Given the description of an element on the screen output the (x, y) to click on. 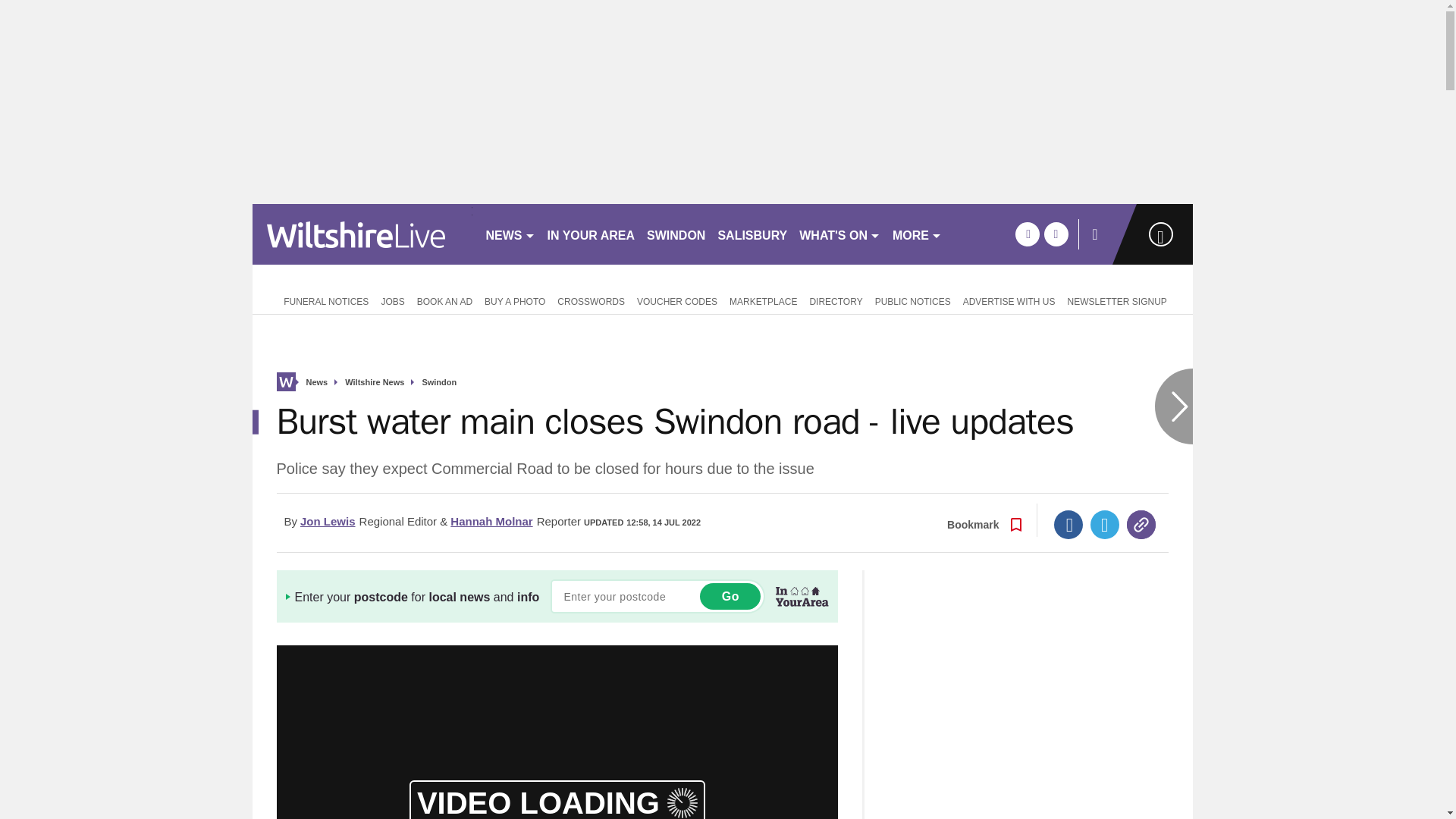
CROSSWORDS (590, 300)
Go (730, 596)
NEWSLETTER SIGNUP (1116, 300)
MORE (916, 233)
SWINDON (675, 233)
JOBS (392, 300)
MARKETPLACE (763, 300)
DIRECTORY (835, 300)
BOOK AN AD (444, 300)
BUY A PHOTO (515, 300)
